Given the description of an element on the screen output the (x, y) to click on. 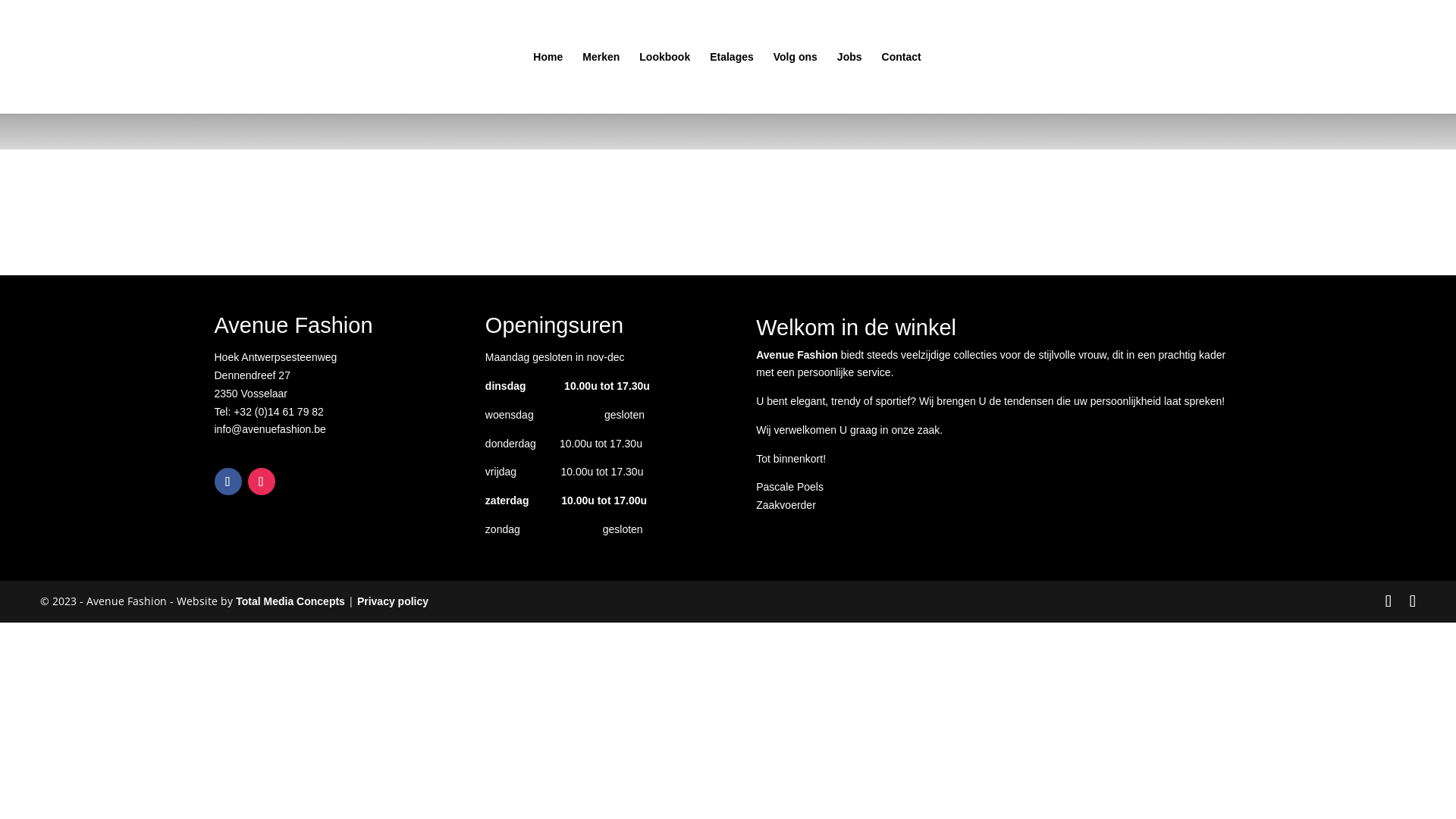
info@avenuefashion.be Element type: text (269, 429)
Tel: +32 (0)14 61 79 82 Element type: text (268, 411)
Total Media Concepts Element type: text (290, 601)
Volg op Facebook Element type: hover (227, 481)
Lookbook Element type: text (664, 82)
Home Element type: text (547, 82)
Merken Element type: text (600, 82)
Etalages Element type: text (731, 82)
Jobs Element type: text (849, 82)
Contact Element type: text (901, 82)
Volg ons Element type: text (795, 82)
Volg op Instagram Element type: hover (260, 481)
Privacy policy Element type: text (392, 601)
